Given the description of an element on the screen output the (x, y) to click on. 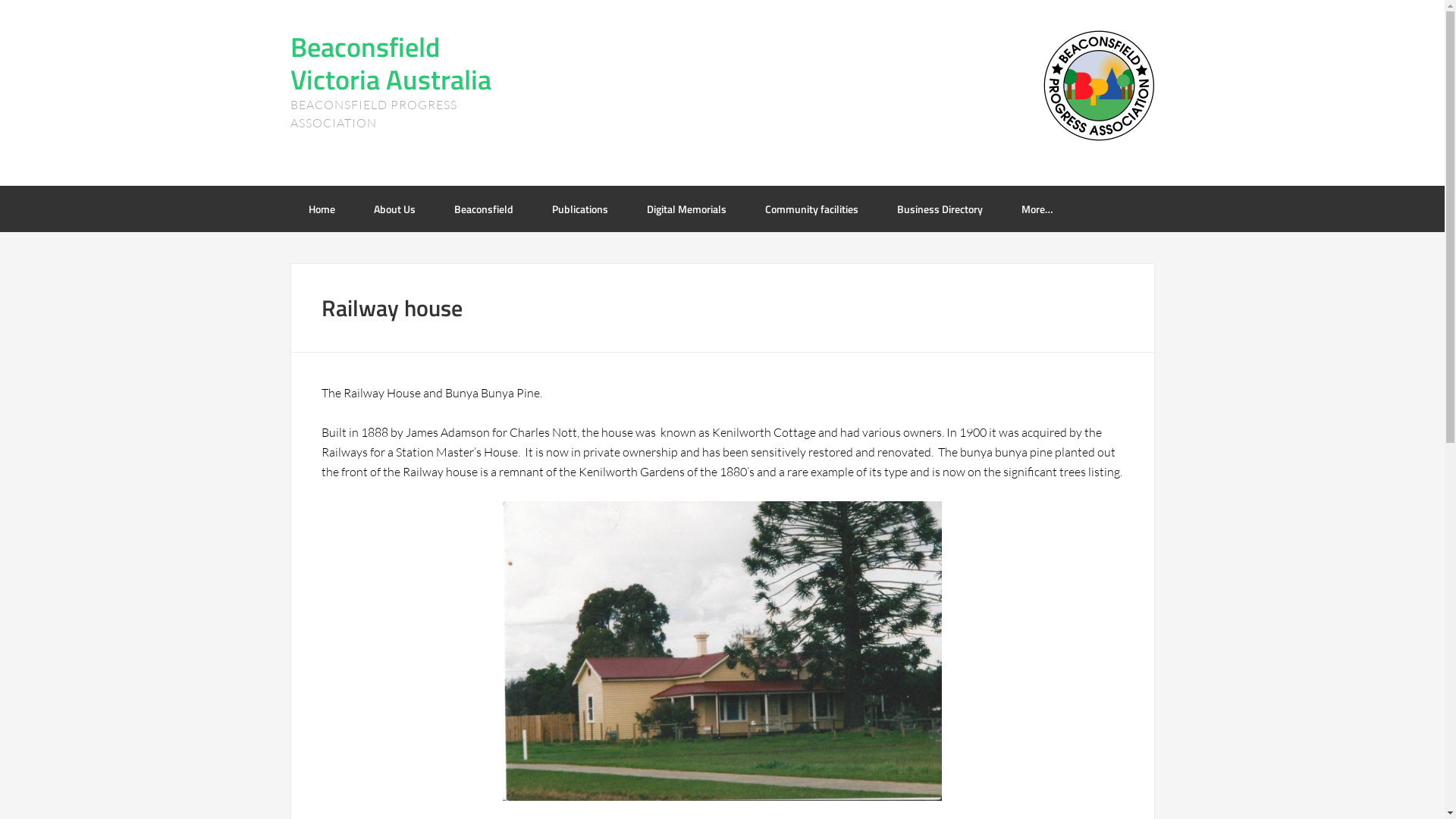
Beaconsfield Victoria Australia Element type: text (389, 62)
Home Element type: text (320, 208)
Publications Element type: text (579, 208)
Digital Memorials Element type: text (685, 208)
About Us Element type: text (393, 208)
Beaconsfield Element type: text (482, 208)
Community facilities Element type: text (810, 208)
Business Directory Element type: text (939, 208)
